Given the description of an element on the screen output the (x, y) to click on. 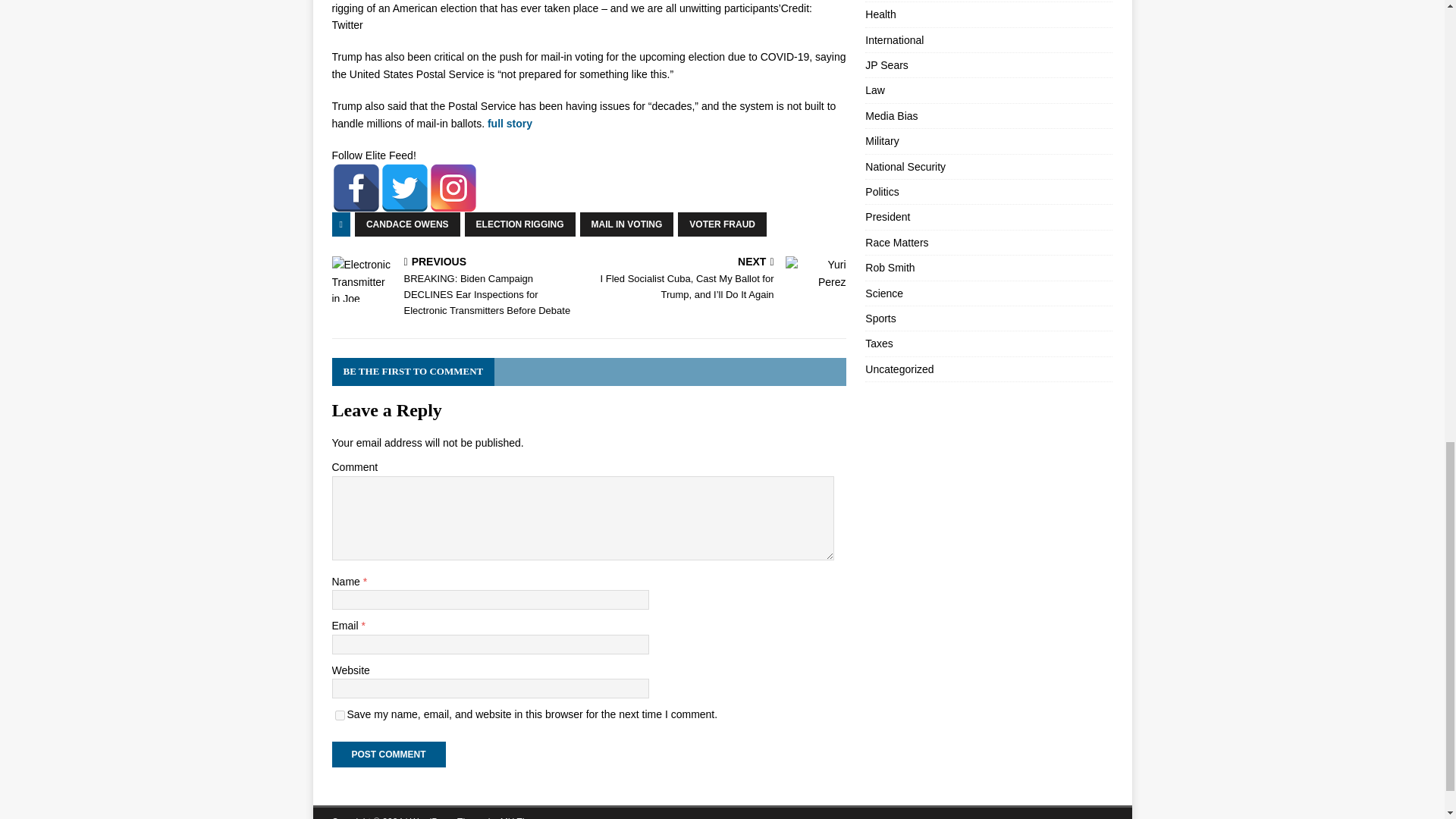
Post Comment (388, 754)
Facebook (355, 187)
ELECTION RIGGING (519, 224)
Post Comment (388, 754)
Instagram (453, 187)
VOTER FRAUD (722, 224)
CANDACE OWENS (407, 224)
full story (509, 123)
MAIL IN VOTING (626, 224)
